Given the description of an element on the screen output the (x, y) to click on. 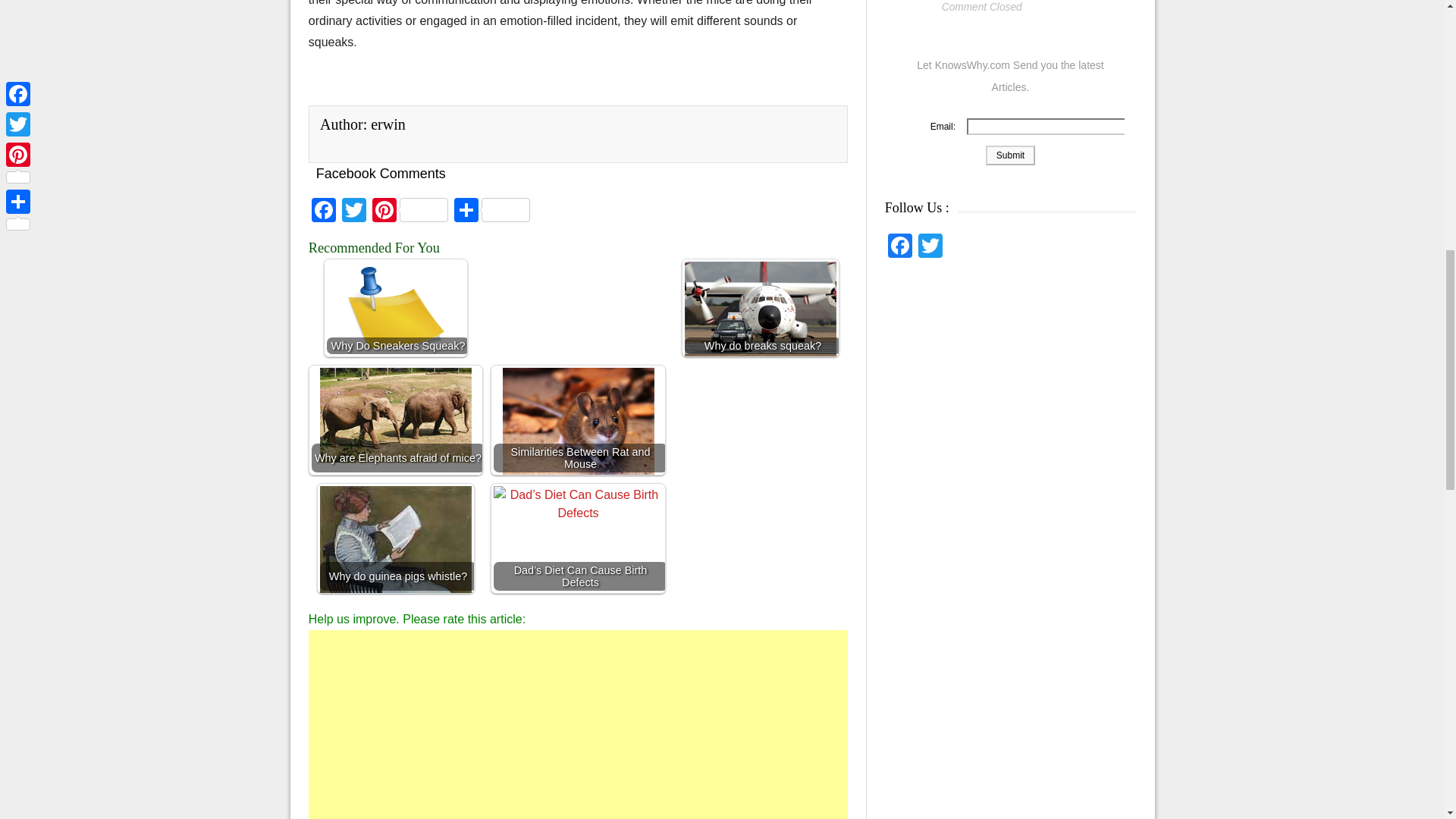
Submit (1010, 155)
Why do breaks squeak? (759, 309)
Why do guinea pigs whistle? (395, 538)
Facebook (323, 212)
Why are Elephants afraid of mice? (395, 414)
Advertisement (578, 724)
Pinterest (410, 212)
Twitter (354, 212)
Why Do Sneakers Squeak? (395, 307)
Why do breaks squeak? (760, 307)
